Given the description of an element on the screen output the (x, y) to click on. 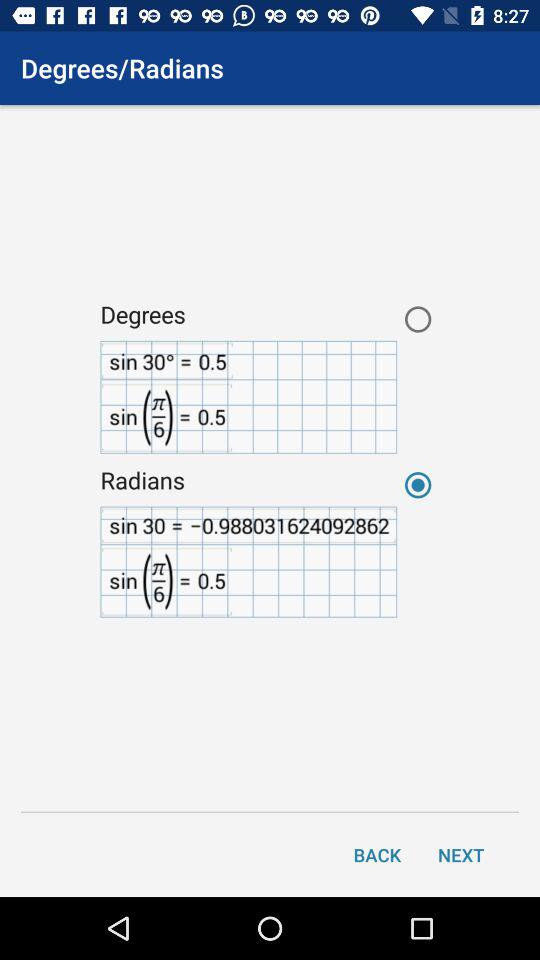
launch the item to the right of the back icon (461, 854)
